Given the description of an element on the screen output the (x, y) to click on. 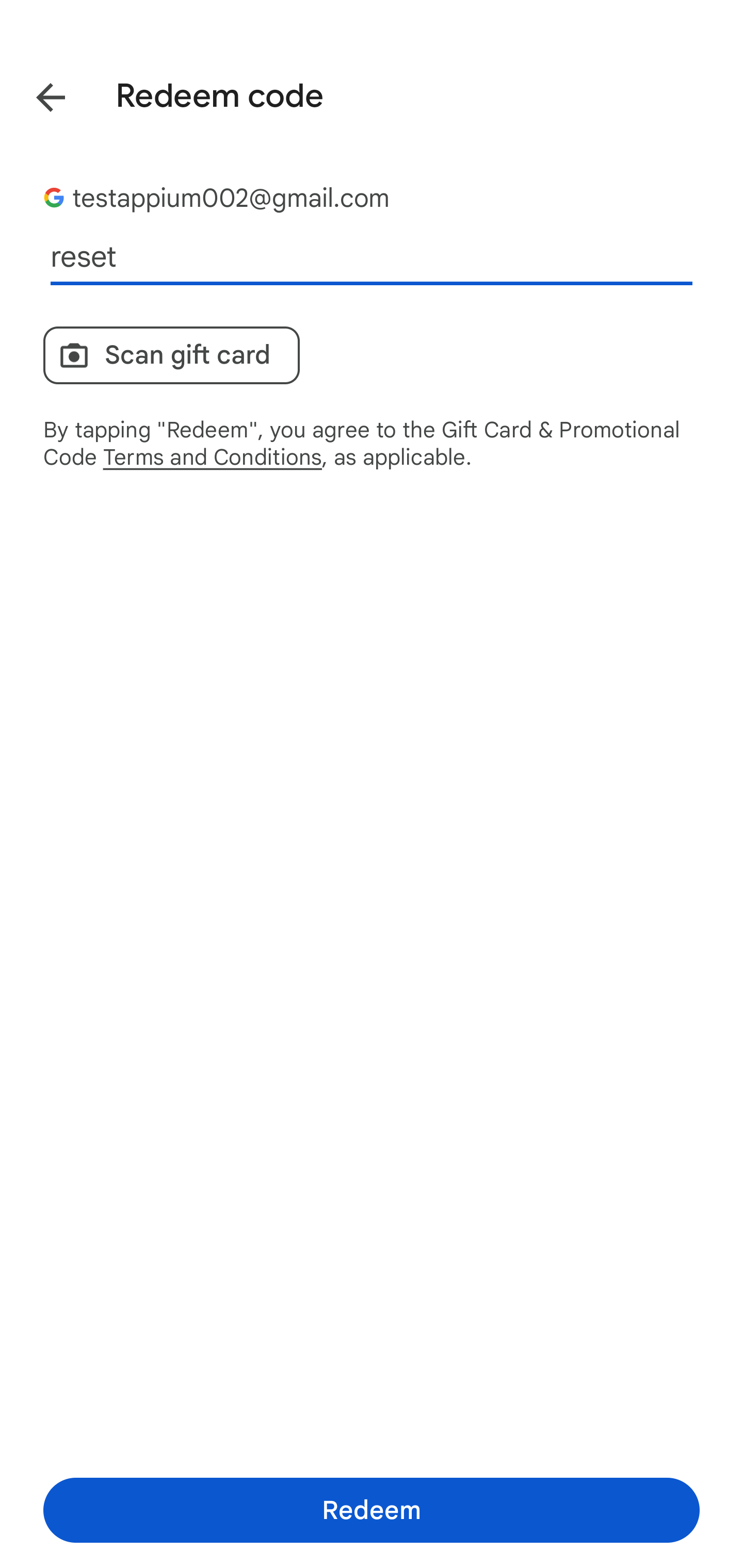
Back (36, 94)
reset (371, 256)
Scan gift card (171, 355)
Redeem (371, 1509)
